Given the description of an element on the screen output the (x, y) to click on. 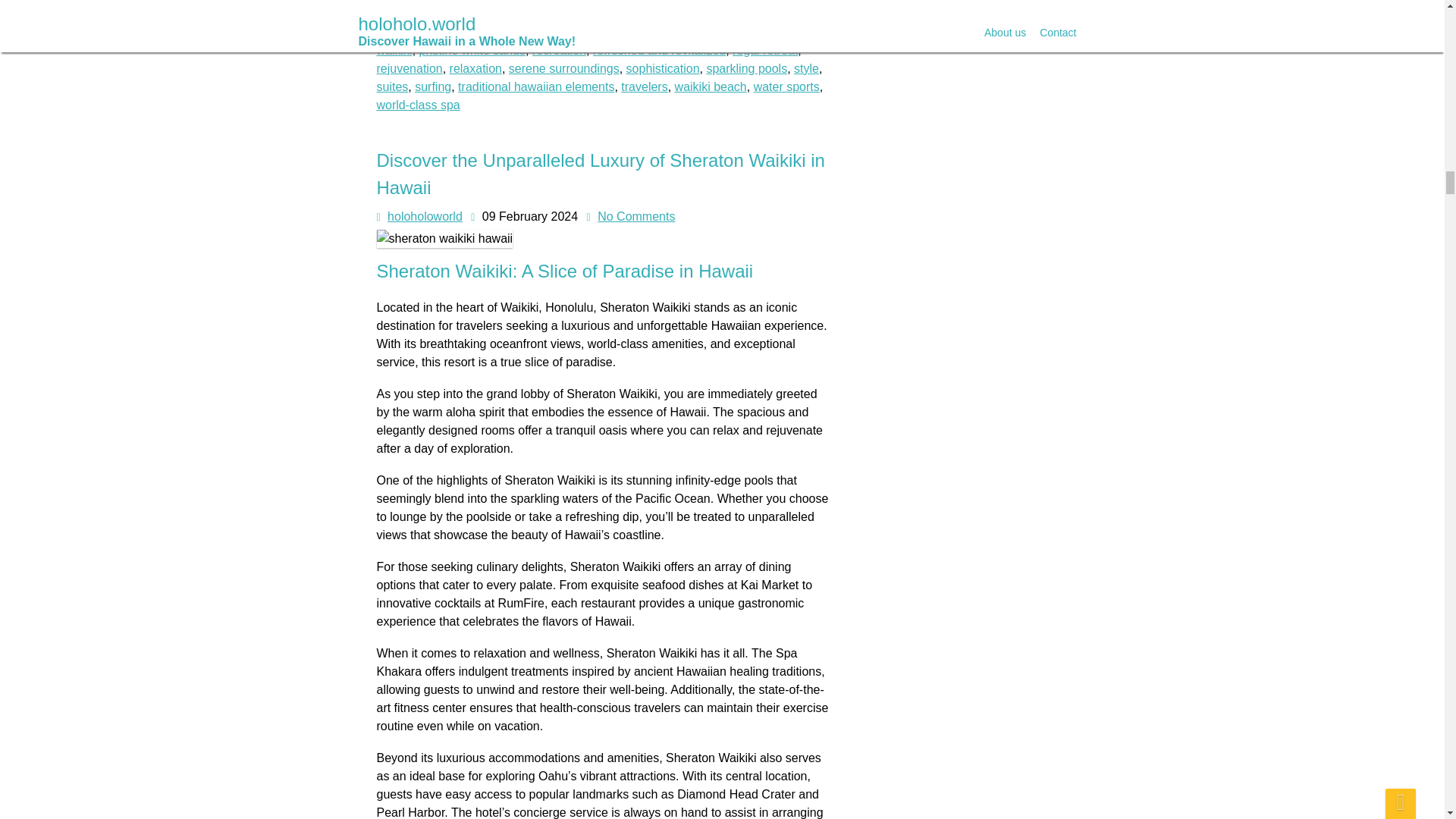
Posts by holoholoworld (425, 215)
